Given the description of an element on the screen output the (x, y) to click on. 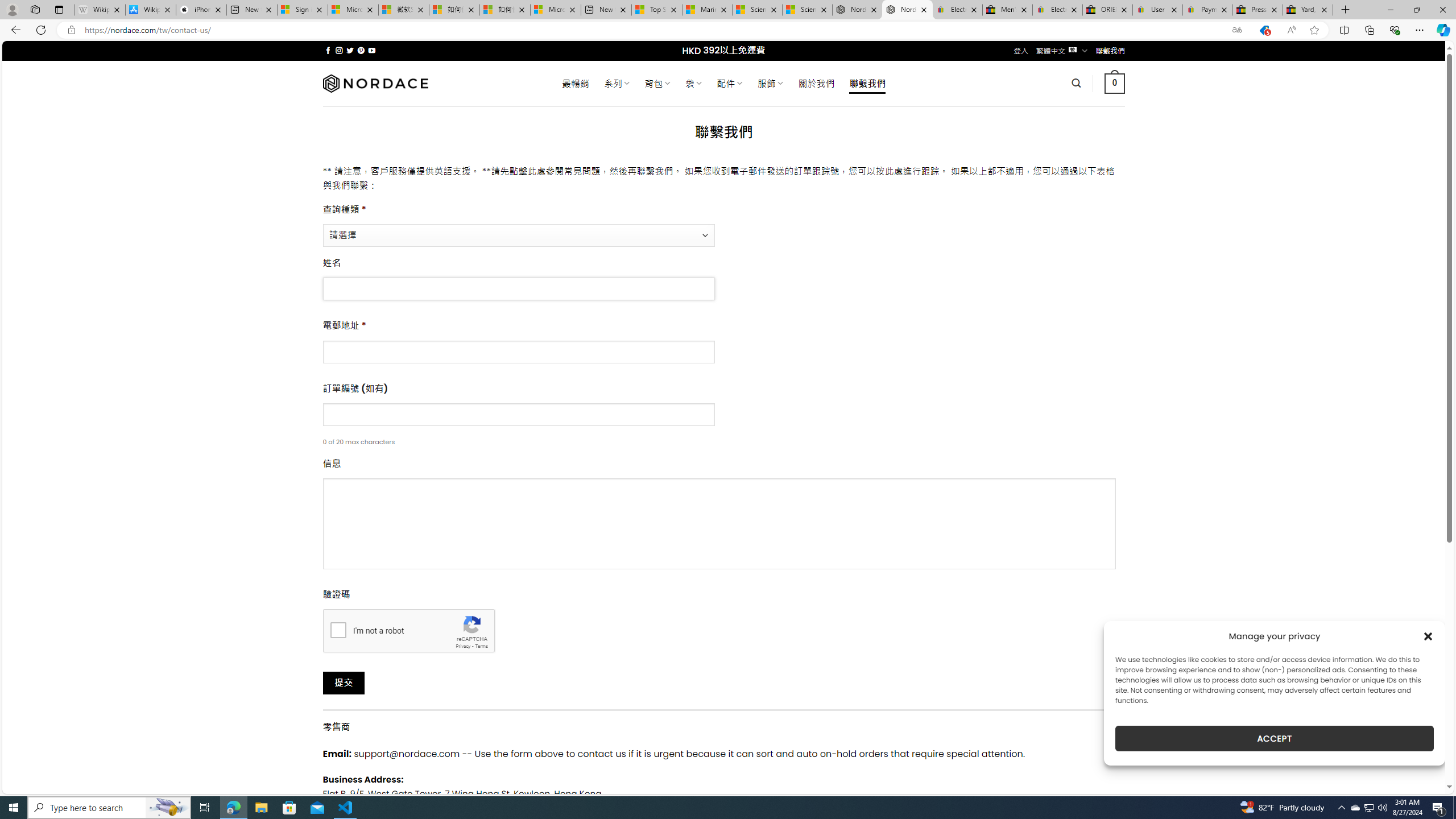
I'm not a robot (338, 629)
Top Stories - MSN (656, 9)
Follow on Instagram (338, 50)
Wikipedia - Sleeping (99, 9)
Terms (481, 646)
